Given the description of an element on the screen output the (x, y) to click on. 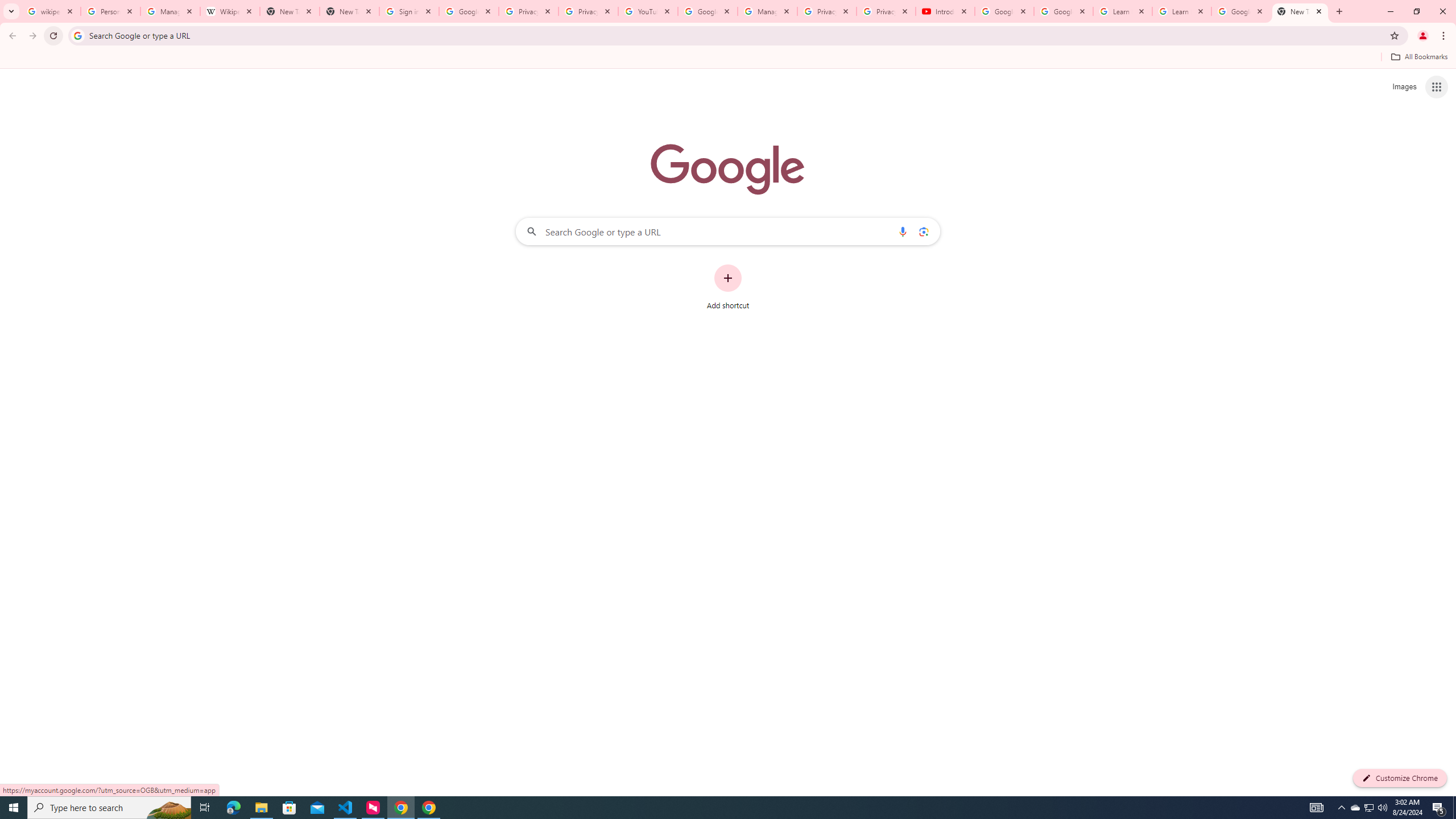
Google Account Help (1004, 11)
Search Google or type a URL (727, 230)
YouTube (647, 11)
Manage your Location History - Google Search Help (170, 11)
Search for Images  (1403, 87)
